Given the description of an element on the screen output the (x, y) to click on. 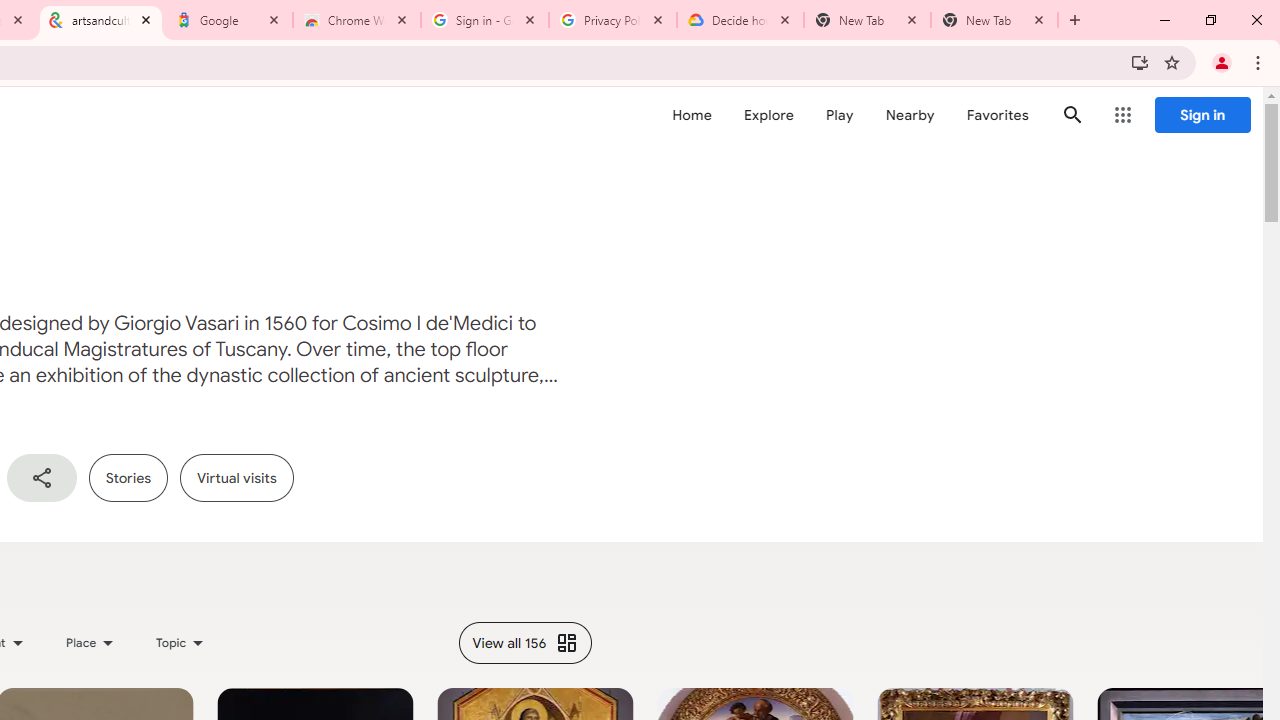
New Tab (994, 20)
Sign in - Google Accounts (485, 20)
Favorites (996, 115)
Topic (180, 642)
View all 156 (525, 642)
